Given the description of an element on the screen output the (x, y) to click on. 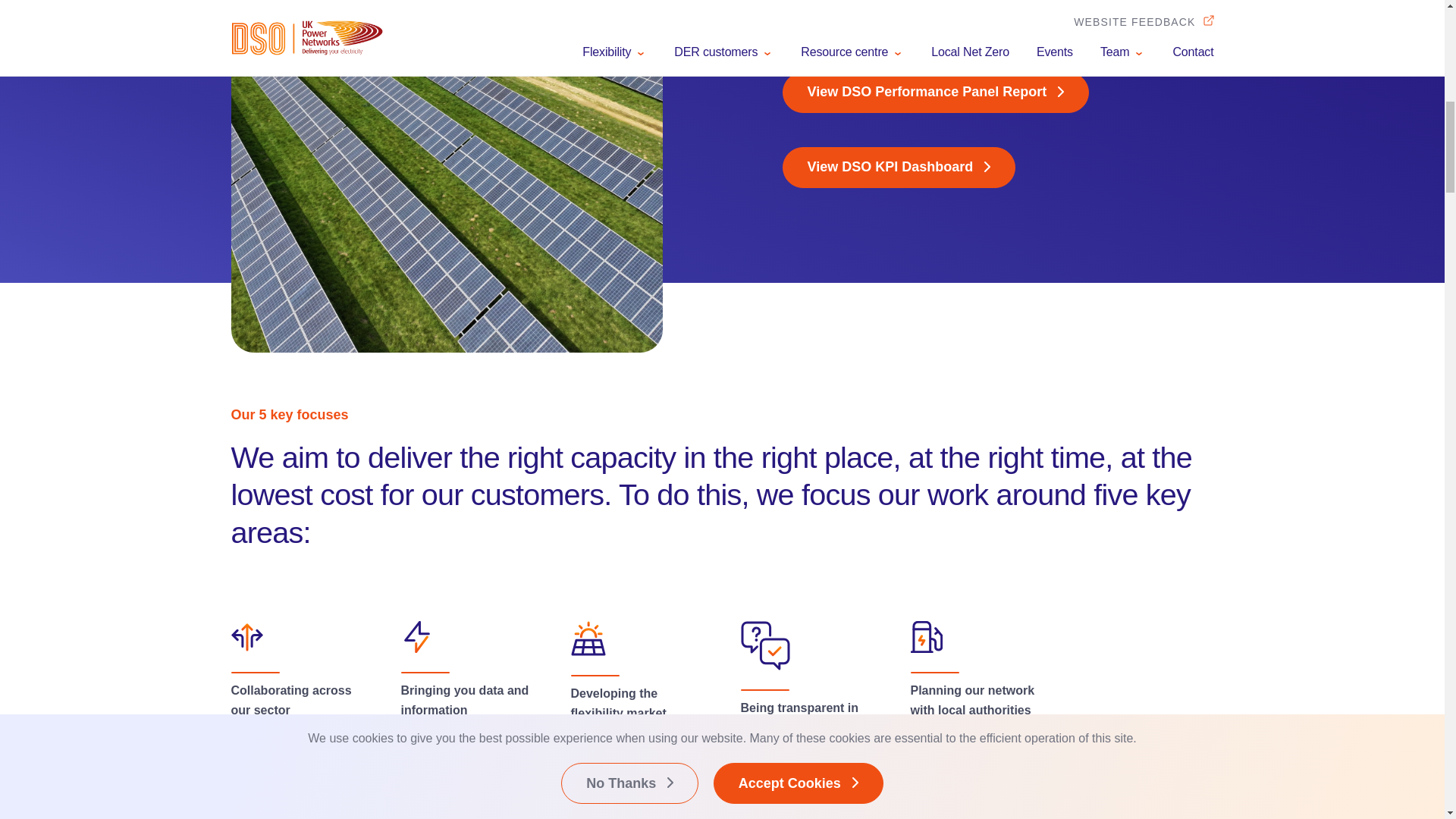
View DSO Performance Panel Report (936, 92)
View DSO KPI Dashboard (899, 167)
Find out more (309, 788)
